Given the description of an element on the screen output the (x, y) to click on. 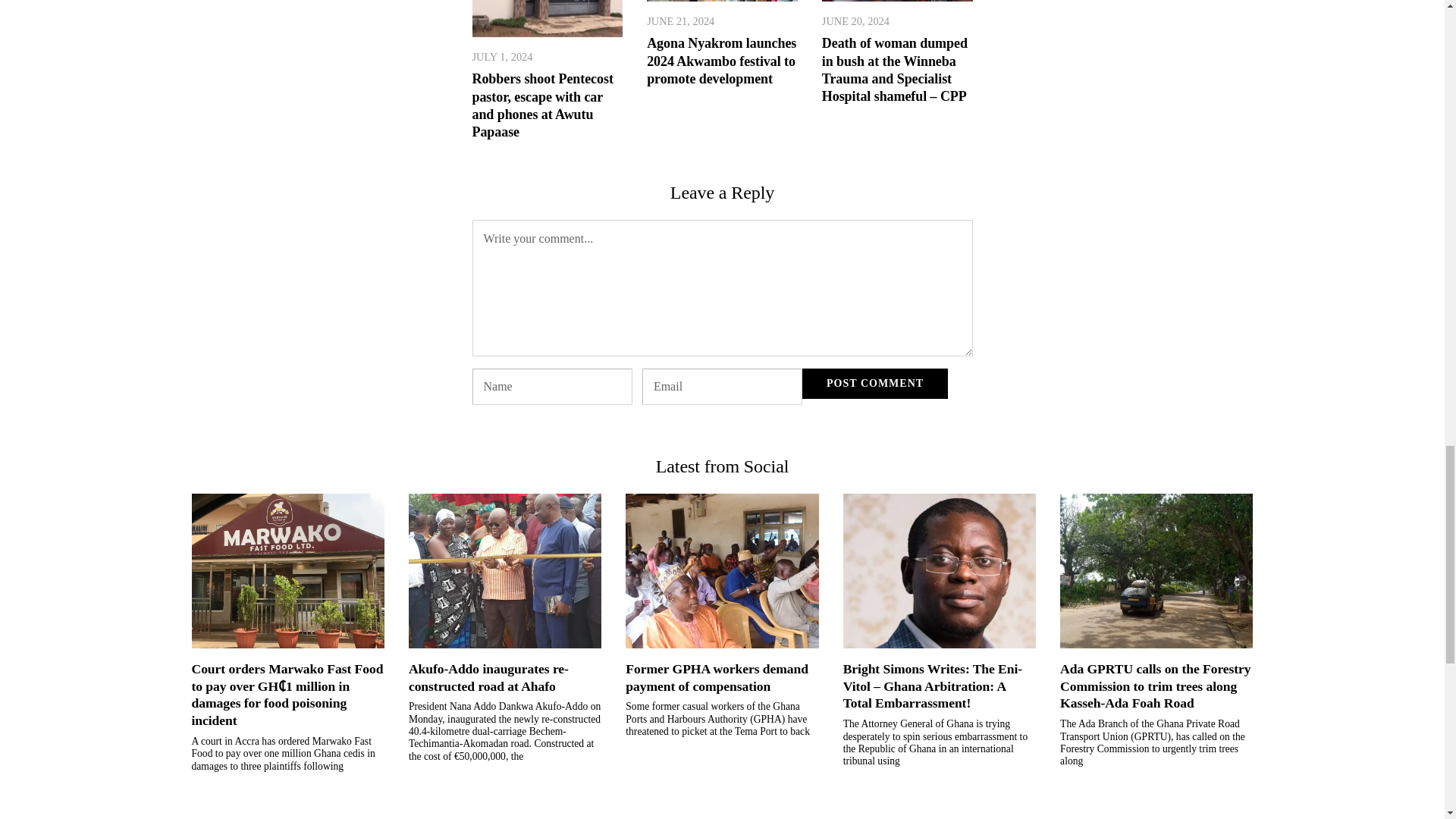
20 Jun, 2024 16:47:28 (855, 20)
01 Jul, 2024 13:04:10 (501, 56)
21 Jun, 2024 08:19:42 (680, 20)
Post Comment (874, 383)
